Given the description of an element on the screen output the (x, y) to click on. 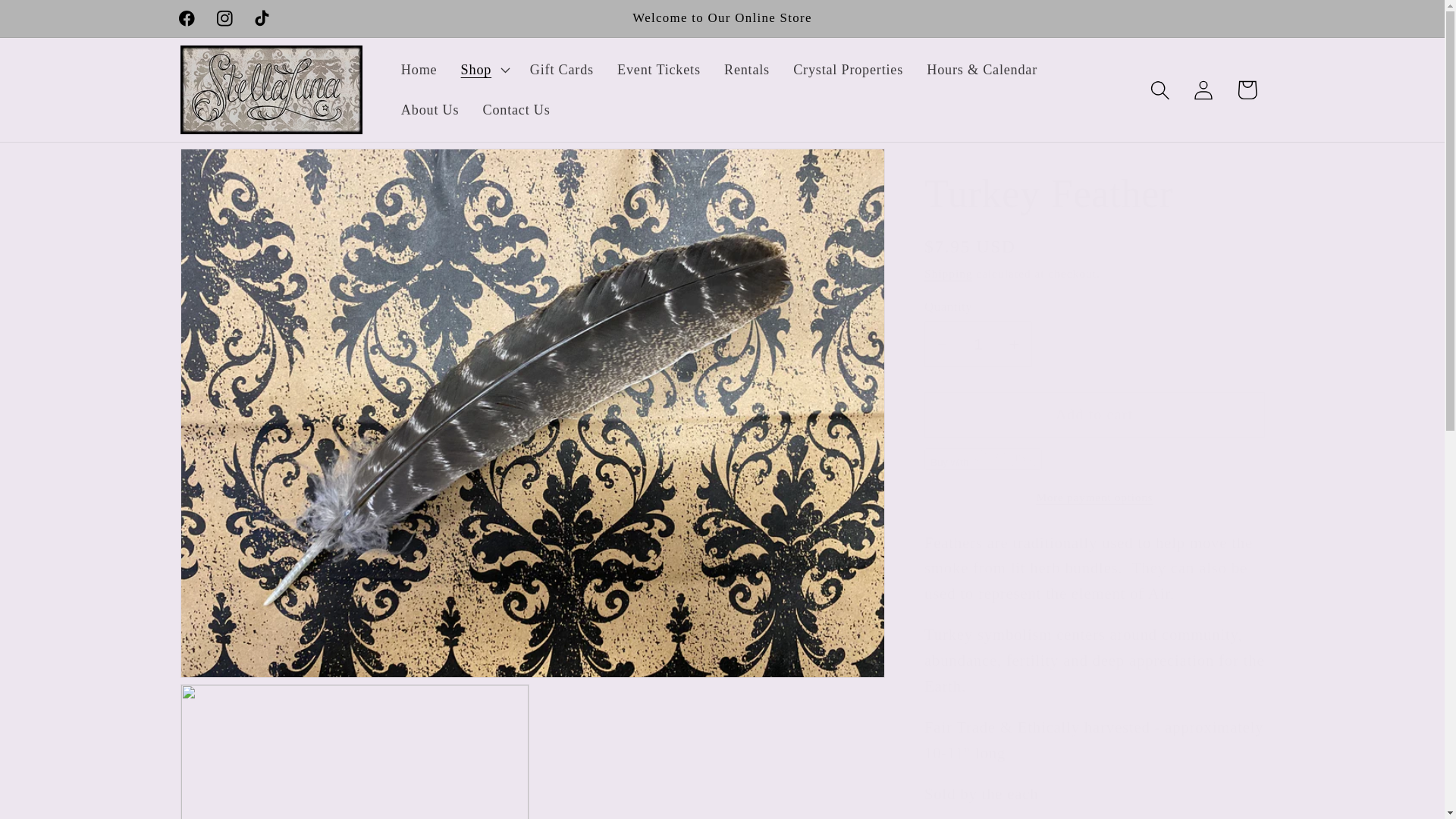
Open media 2 in modal (354, 751)
Instagram (224, 18)
TikTok (262, 18)
Facebook (186, 18)
Skip to content (59, 22)
Home (418, 69)
